Given the description of an element on the screen output the (x, y) to click on. 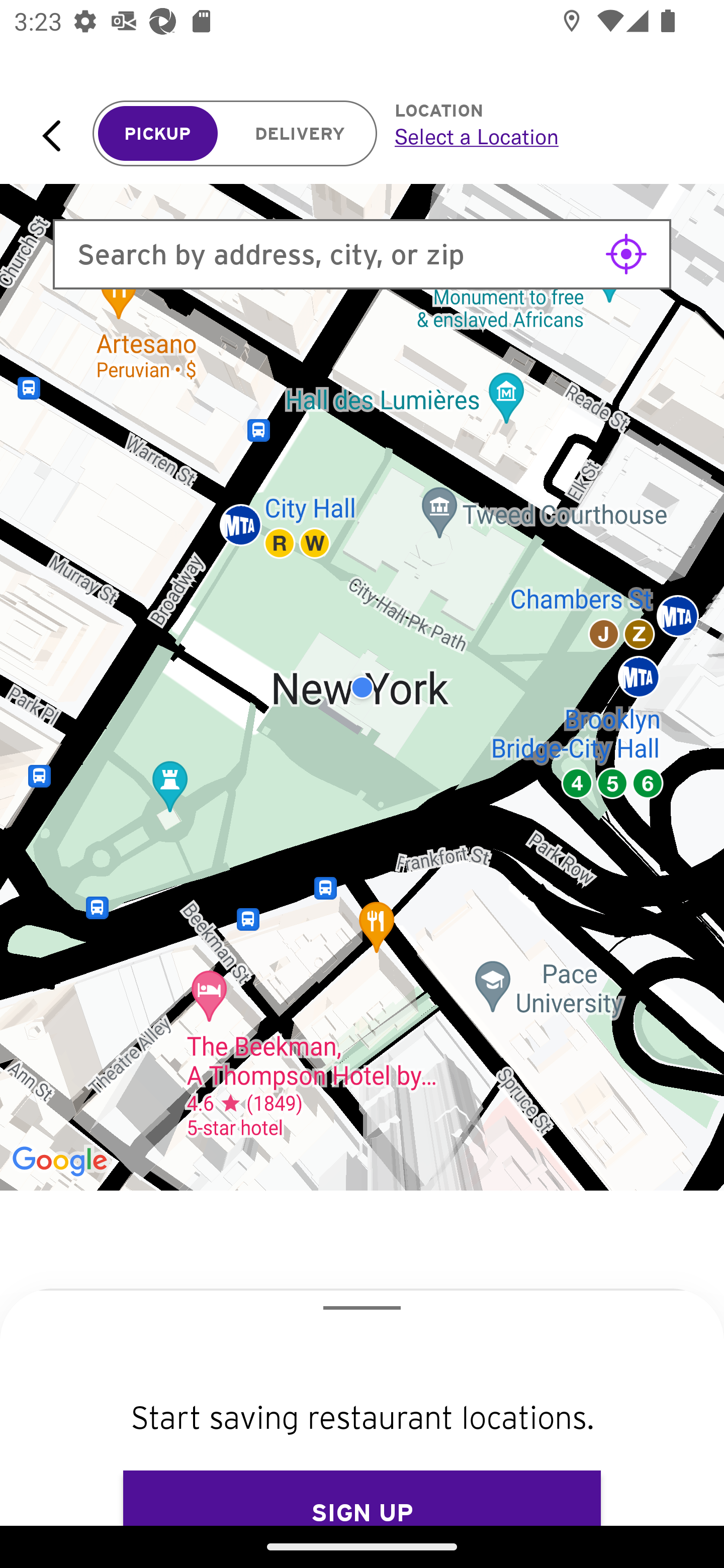
PICKUP (157, 133)
DELIVERY (299, 133)
Select a Location (536, 136)
Search by address, city, or zip (361, 254)
SIGN UP (361, 1497)
